Given the description of an element on the screen output the (x, y) to click on. 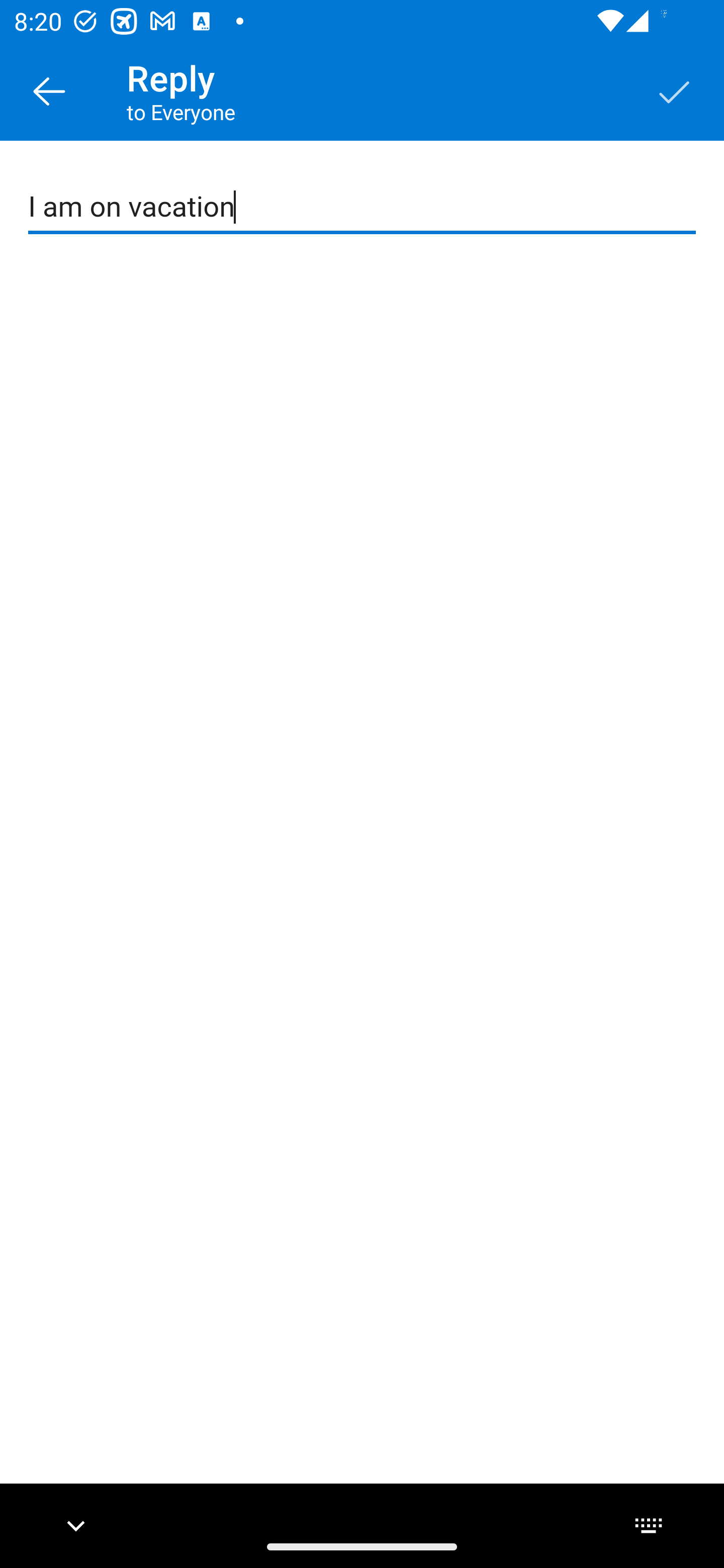
Back (49, 90)
Save (674, 90)
I am on vacation (363, 206)
